Given the description of an element on the screen output the (x, y) to click on. 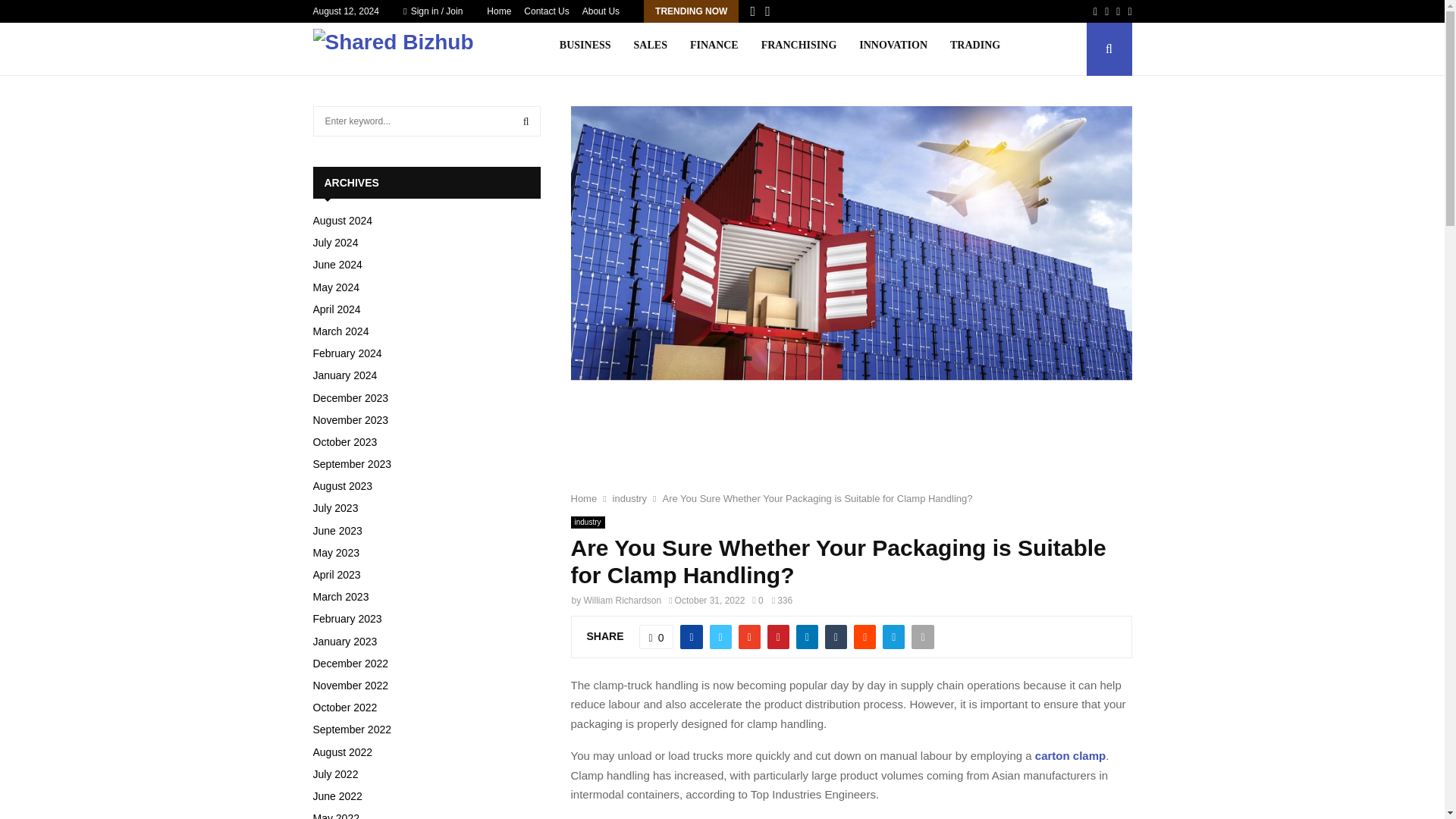
Home (498, 11)
INNOVATION (893, 49)
TRADING (975, 49)
Like (656, 636)
Sign up new account (722, 415)
Login to your account (722, 293)
About Us (601, 11)
Contact Us (546, 11)
FINANCE (714, 49)
Home (583, 498)
